Given the description of an element on the screen output the (x, y) to click on. 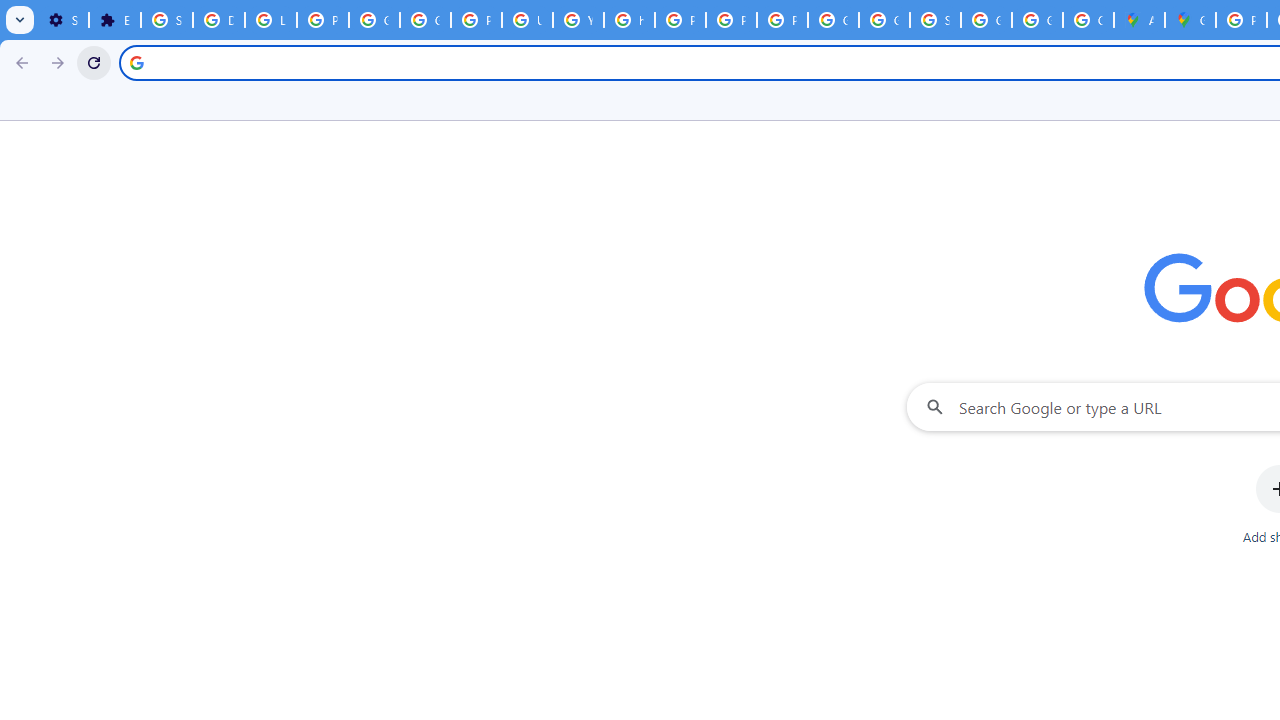
YouTube (578, 20)
Google Account Help (374, 20)
Create your Google Account (1087, 20)
Sign in - Google Accounts (935, 20)
